Given the description of an element on the screen output the (x, y) to click on. 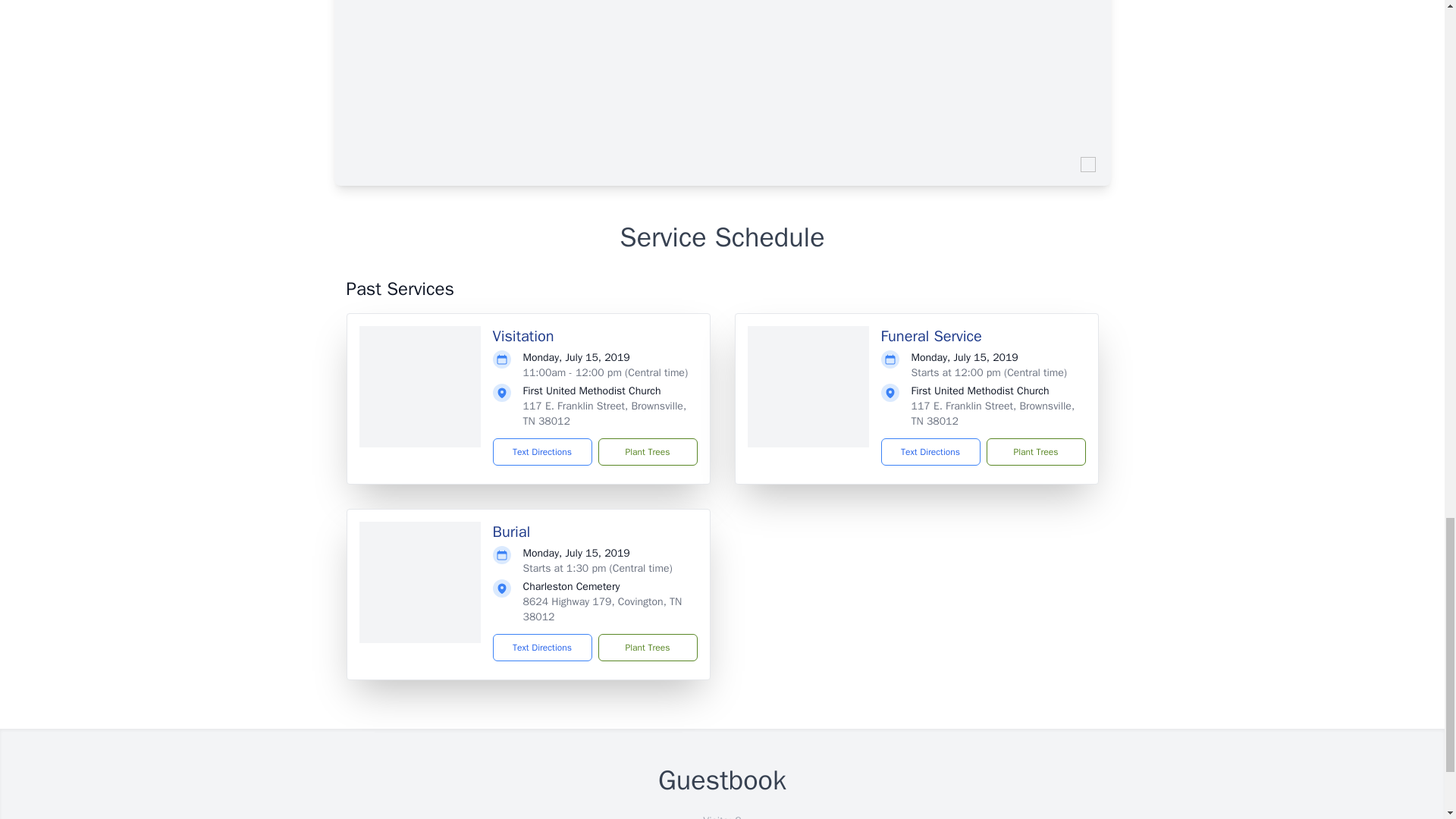
Text Directions (542, 452)
Plant Trees (646, 452)
117 E. Franklin Street, Brownsville, TN 38012 (993, 413)
Text Directions (542, 646)
Plant Trees (1034, 452)
Plant Trees (646, 646)
117 E. Franklin Street, Brownsville, TN 38012 (604, 413)
8624 Highway 179, Covington, TN 38012 (602, 609)
Text Directions (929, 452)
